Given the description of an element on the screen output the (x, y) to click on. 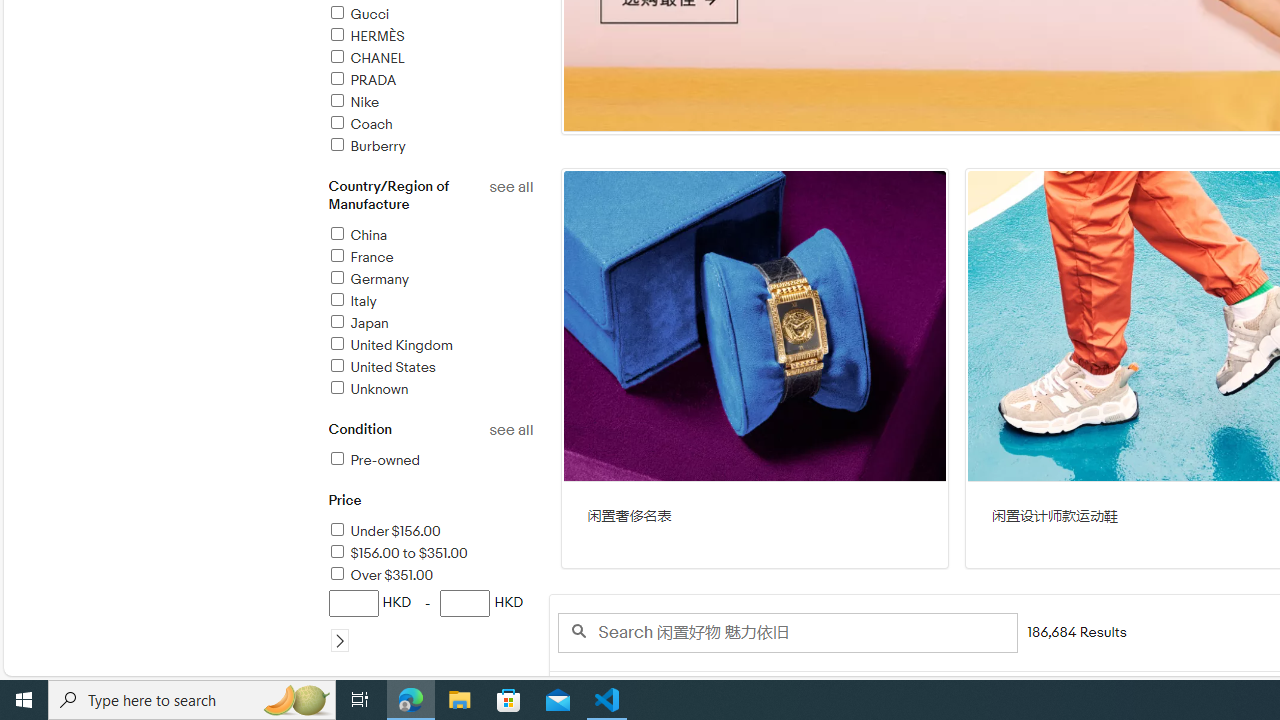
Italy (351, 301)
Under $156.00 (383, 531)
Japan (430, 324)
Enter your search keyword (786, 632)
Nike (353, 102)
See all condition refinements (510, 430)
Maximum Value (465, 603)
France (360, 257)
Unknown (430, 390)
United Kingdom (389, 345)
Germany (430, 280)
Coach (430, 125)
Gucci (430, 15)
